Given the description of an element on the screen output the (x, y) to click on. 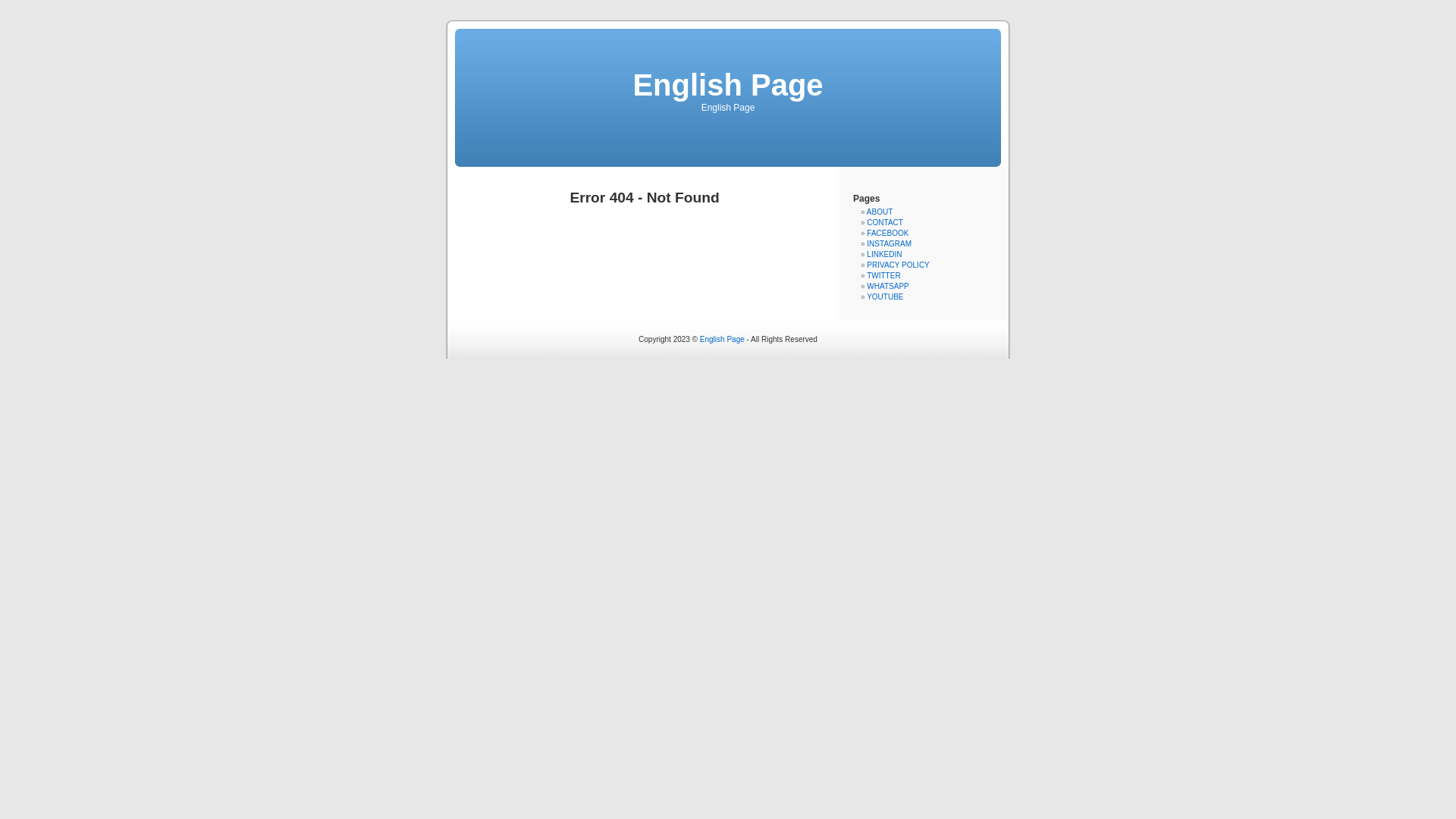
TWITTER Element type: text (883, 275)
INSTAGRAM Element type: text (888, 243)
ABOUT Element type: text (879, 211)
FACEBOOK Element type: text (887, 233)
English Page Element type: text (721, 339)
PRIVACY POLICY Element type: text (897, 264)
YOUTUBE Element type: text (884, 296)
LINKEDIN Element type: text (883, 254)
CONTACT Element type: text (884, 222)
English Page Element type: text (727, 84)
WHATSAPP Element type: text (887, 286)
